Given the description of an element on the screen output the (x, y) to click on. 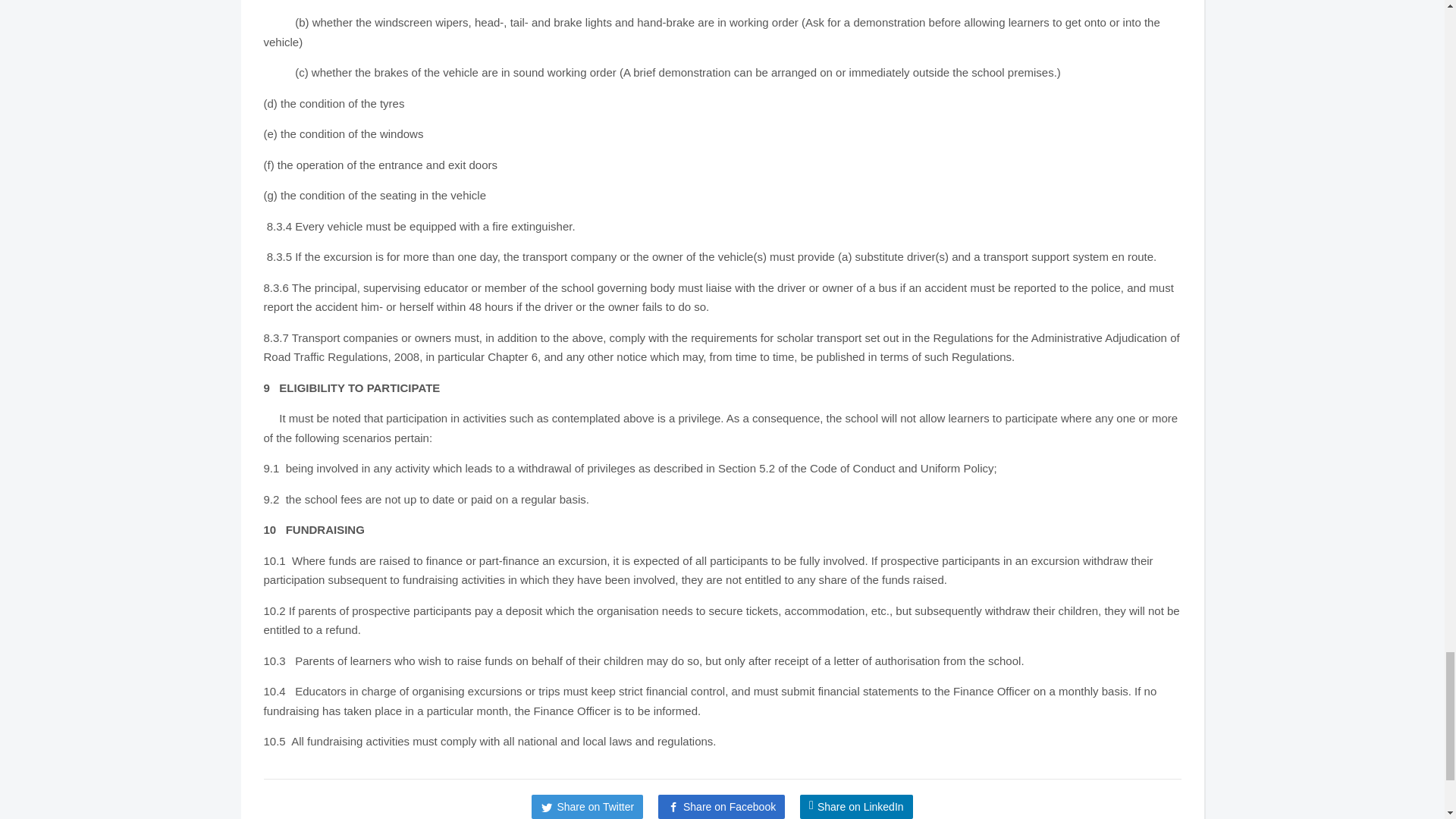
Tweet this on Twitter (587, 806)
Share on LinkedIn (855, 806)
Share this on Facebook (721, 806)
